Given the description of an element on the screen output the (x, y) to click on. 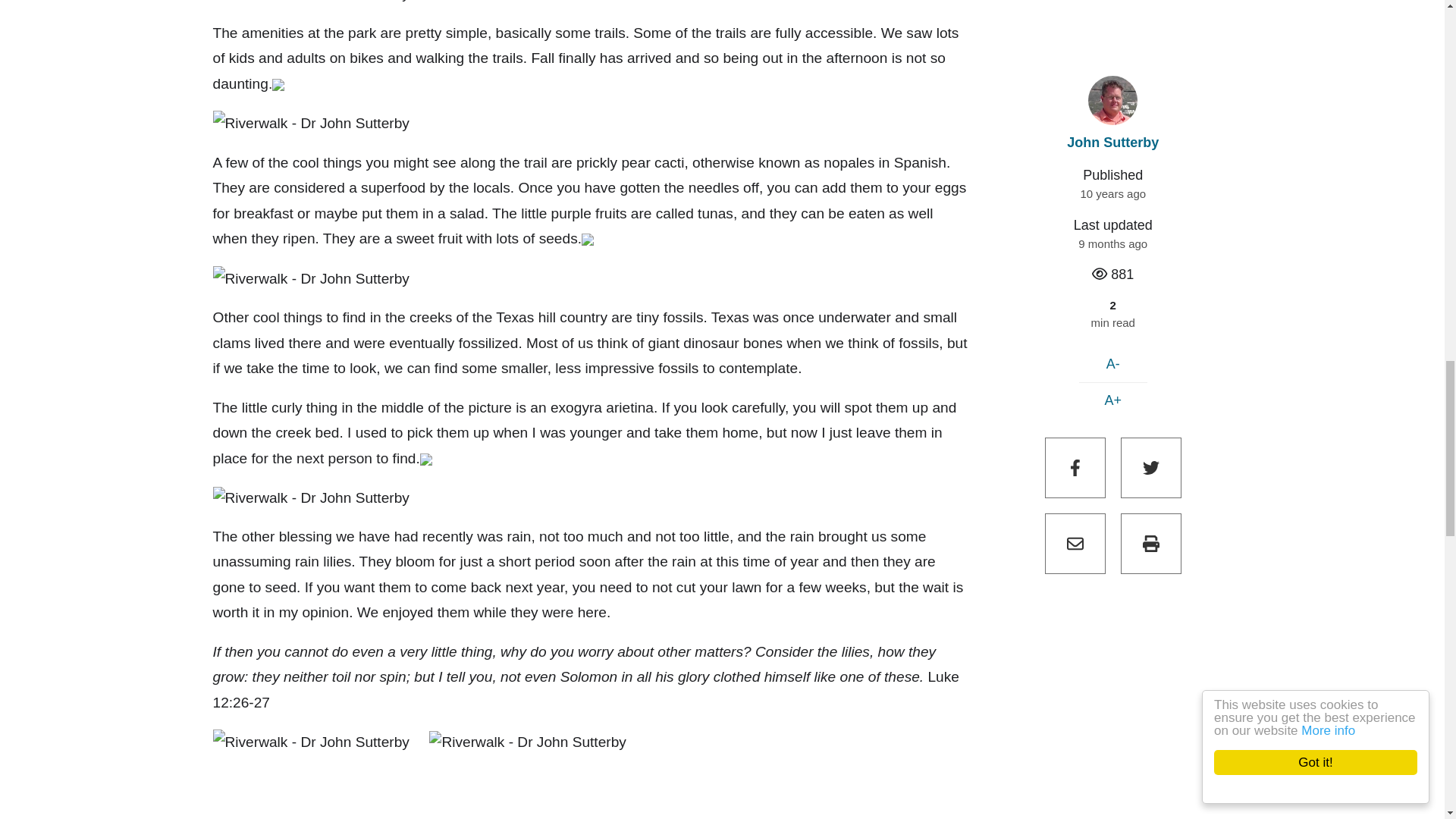
Riverwalk - Dr John Sutterby (310, 278)
Riverwalk - Dr John Sutterby (310, 2)
Riverwalk - Dr John Sutterby (310, 497)
Riverwalk - Dr John Sutterby (310, 122)
